Given the description of an element on the screen output the (x, y) to click on. 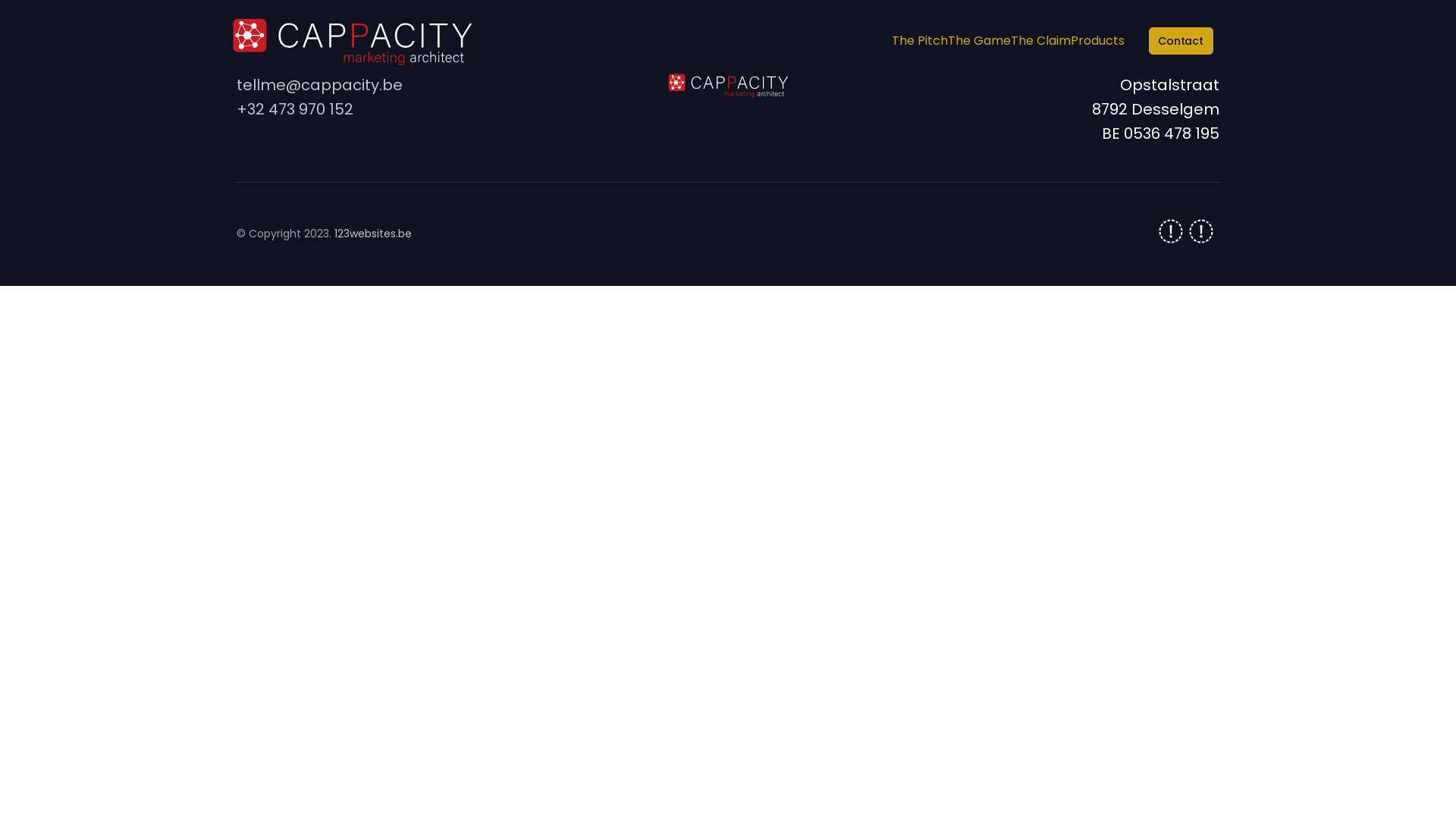
tellme@cappacity.be Element type: text (319, 84)
Products Element type: text (1097, 40)
The Pitch Element type: text (919, 40)
The Game Element type: text (978, 40)
Contact Element type: text (1180, 40)
+32 473 970 152 Element type: text (294, 109)
123websites.be Element type: text (372, 233)
The Claim Element type: text (1040, 40)
